Given the description of an element on the screen output the (x, y) to click on. 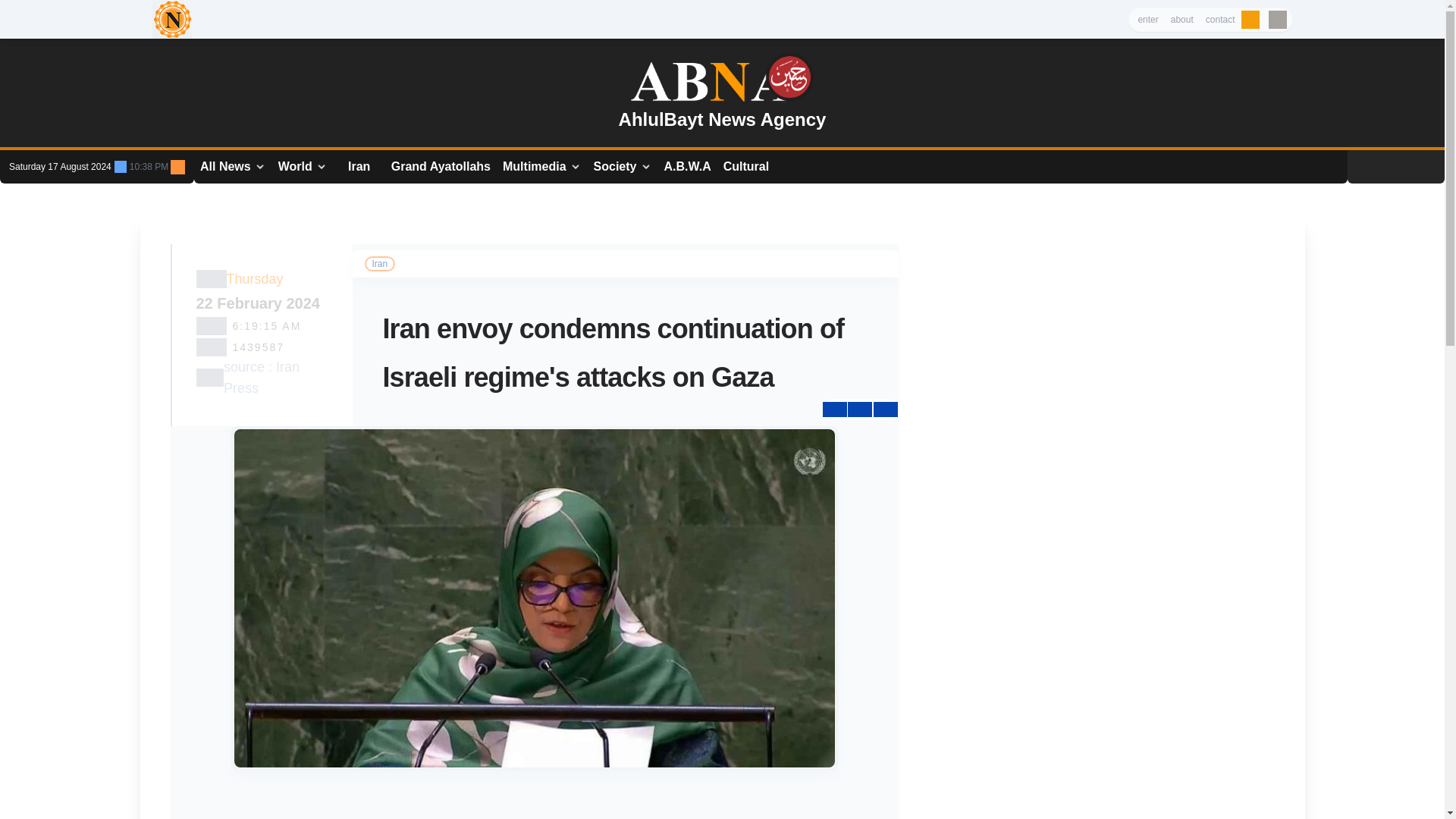
Multimedia (542, 166)
A.B.W.A (687, 166)
Grand Ayatollahs (440, 167)
contact (1220, 19)
Society (623, 166)
A.B.W.A (687, 167)
All News (232, 166)
Iran (358, 167)
Cultural (745, 166)
enter (1147, 19)
